Given the description of an element on the screen output the (x, y) to click on. 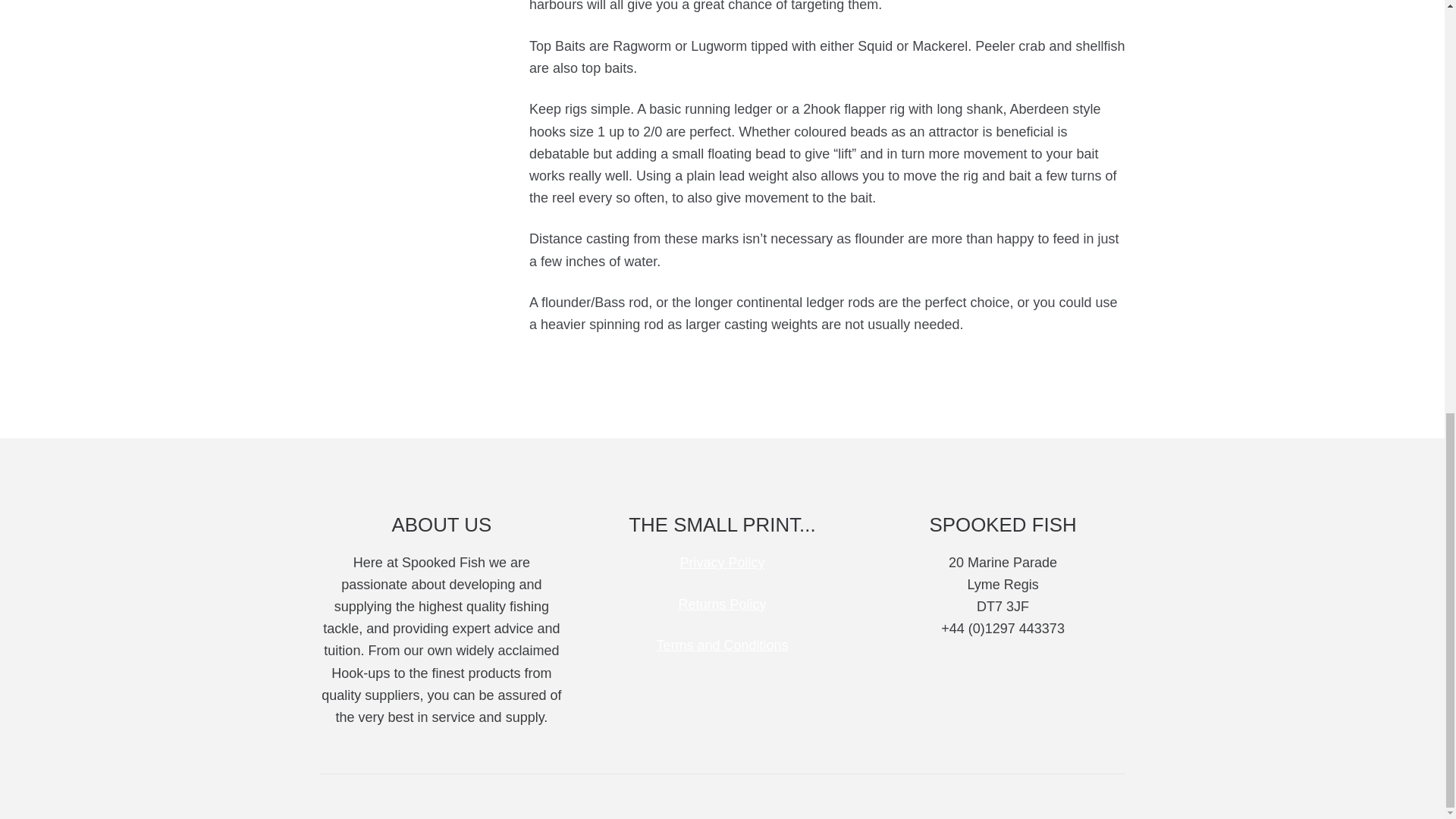
Privacy Policy (721, 562)
Returns Policy (721, 604)
Privacy Policy (721, 562)
Terms and Conditions (721, 645)
Terms and Conditions (721, 645)
Returns Policy (721, 604)
